Given the description of an element on the screen output the (x, y) to click on. 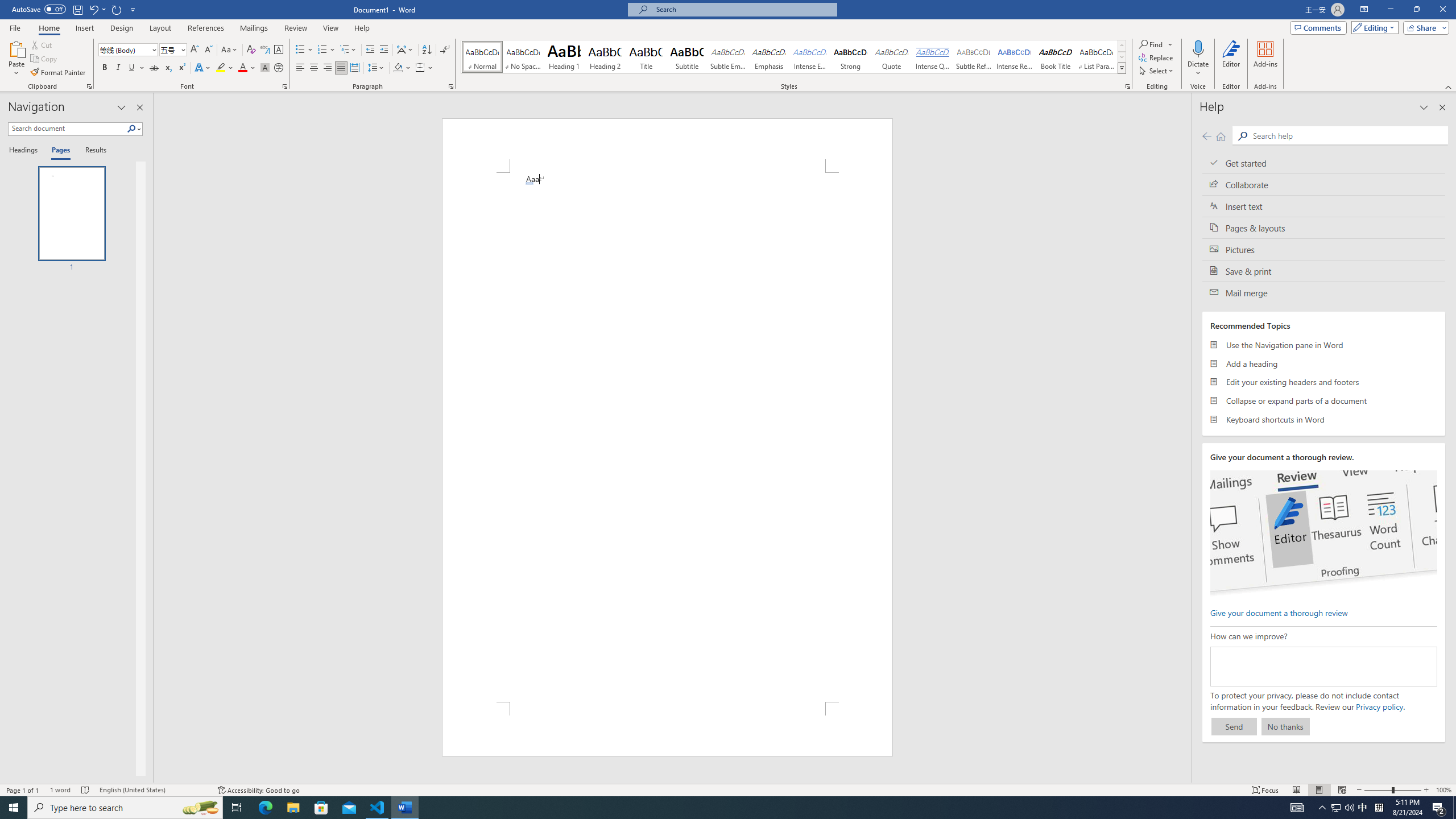
Insert text (1323, 206)
AutomationID: QuickStylesGallery (794, 56)
Copy (45, 58)
Align Left (300, 67)
Collapse or expand parts of a document (1323, 400)
Font (128, 49)
Dictate (1197, 48)
Increase Indent (383, 49)
Privacy policy (1379, 706)
Repeat Style (117, 9)
Save (77, 9)
Font (124, 49)
Character Border (278, 49)
Enclose Characters... (278, 67)
